Given the description of an element on the screen output the (x, y) to click on. 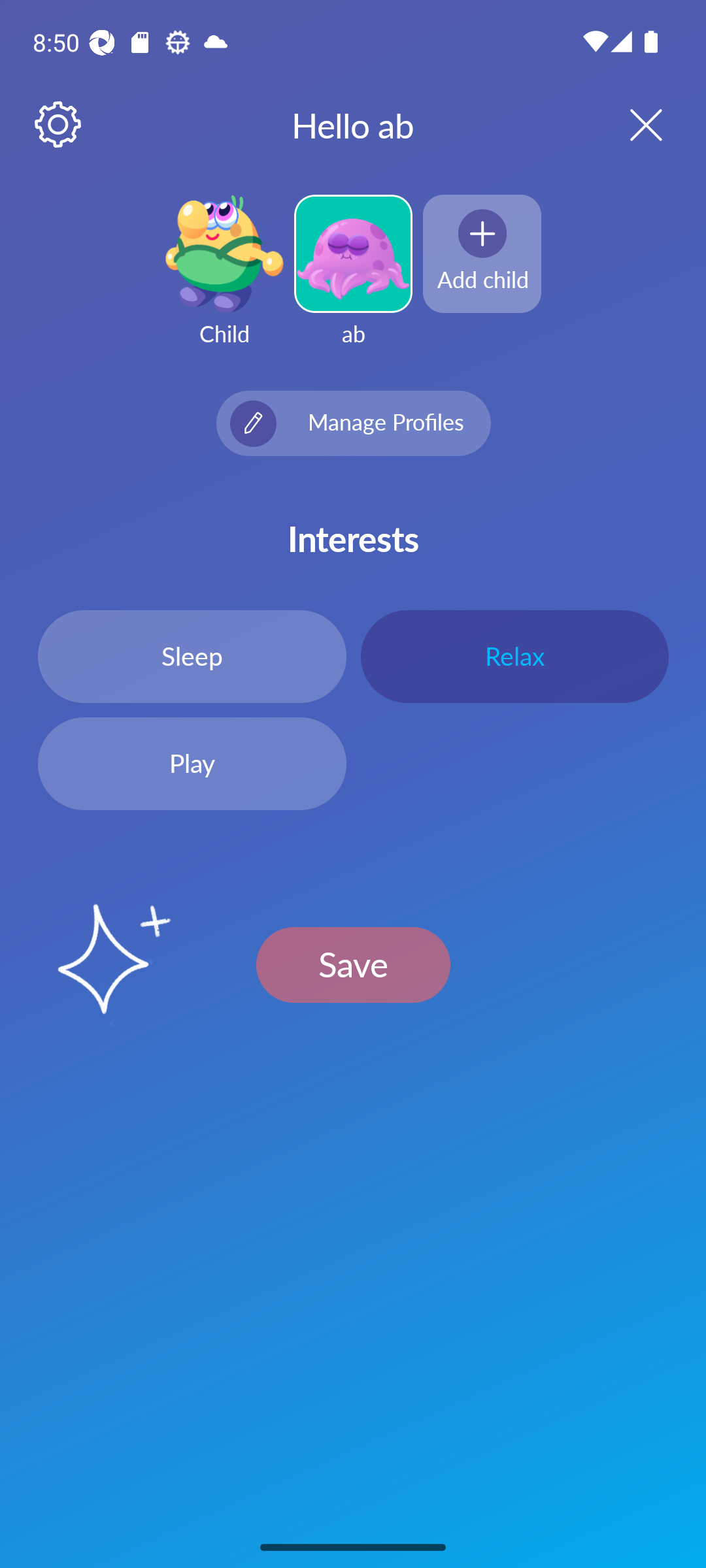
Close (629, 124)
Settings (58, 125)
Child (224, 282)
ab (353, 282)
Add child (481, 253)
icon Manage Profiles (353, 423)
Sleep (192, 655)
Relax (514, 655)
Play (192, 764)
Save (353, 964)
